Given the description of an element on the screen output the (x, y) to click on. 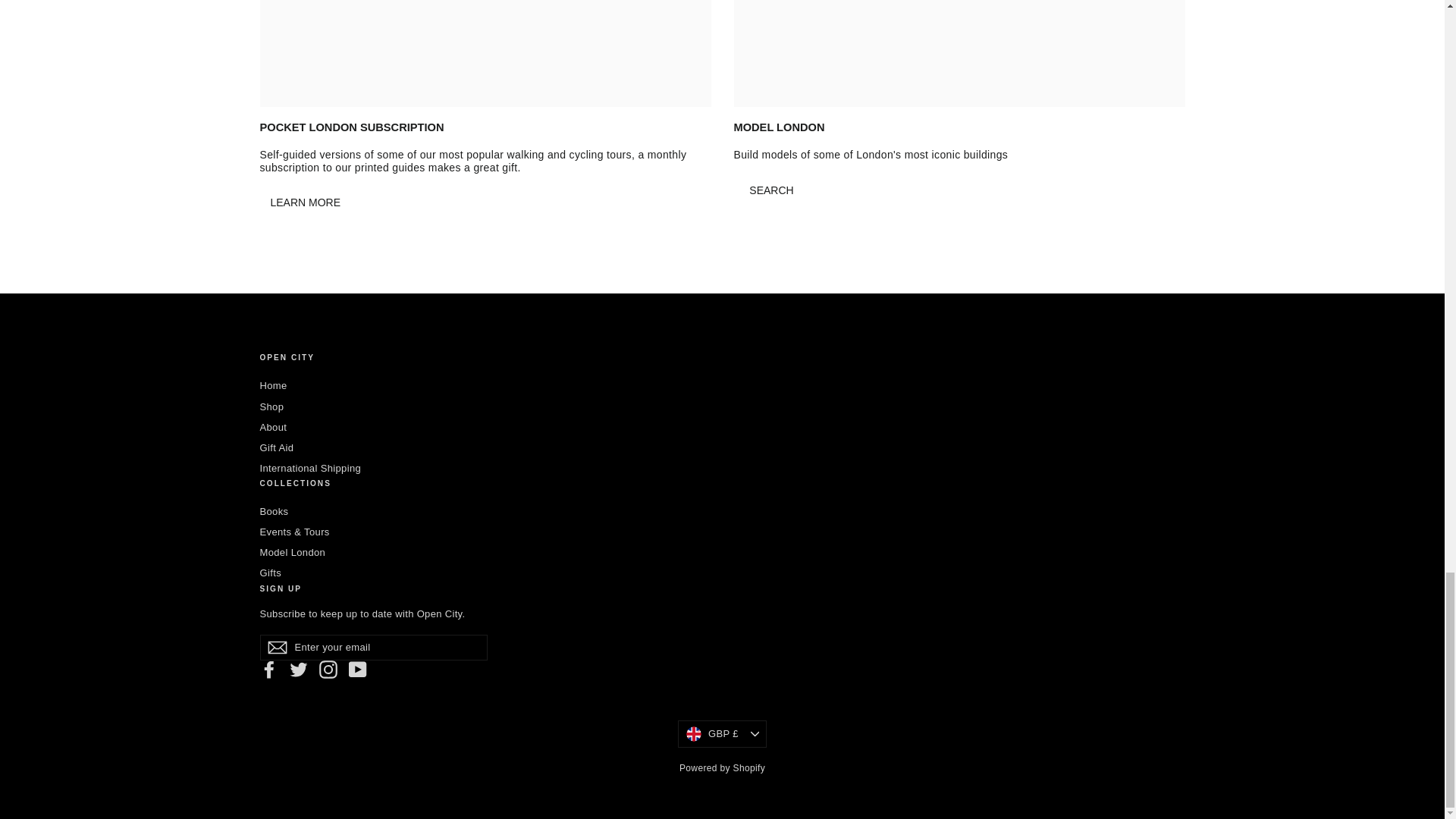
Open City Shop on Twitter (298, 669)
Open City Shop on Instagram (327, 669)
Open City Shop on Facebook (268, 669)
Open City Shop on YouTube (357, 669)
